Given the description of an element on the screen output the (x, y) to click on. 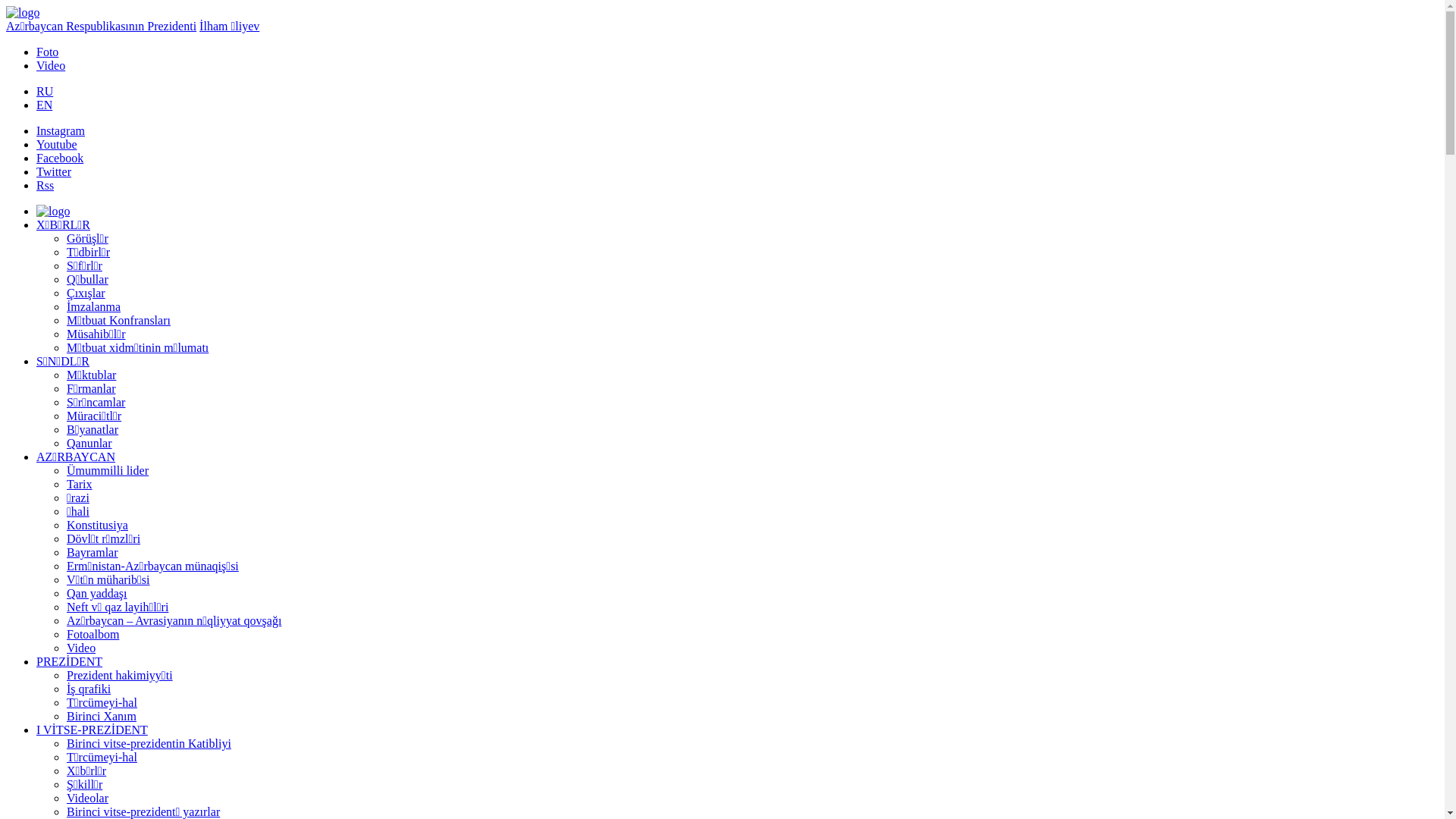
Facebook Element type: text (59, 157)
Birinci vitse-prezidentin Katibliyi Element type: text (148, 743)
Qanunlar Element type: text (89, 442)
Youtube Element type: text (56, 144)
RU Element type: text (44, 90)
Konstitusiya Element type: text (97, 524)
Video Element type: text (50, 65)
Foto Element type: text (47, 51)
Tarix Element type: text (79, 483)
Twitter Element type: text (53, 171)
Rss Element type: text (44, 184)
Videolar Element type: text (87, 797)
Video Element type: text (80, 647)
Instagram Element type: text (60, 130)
Fotoalbom Element type: text (92, 633)
Bayramlar Element type: text (92, 552)
EN Element type: text (44, 104)
